Given the description of an element on the screen output the (x, y) to click on. 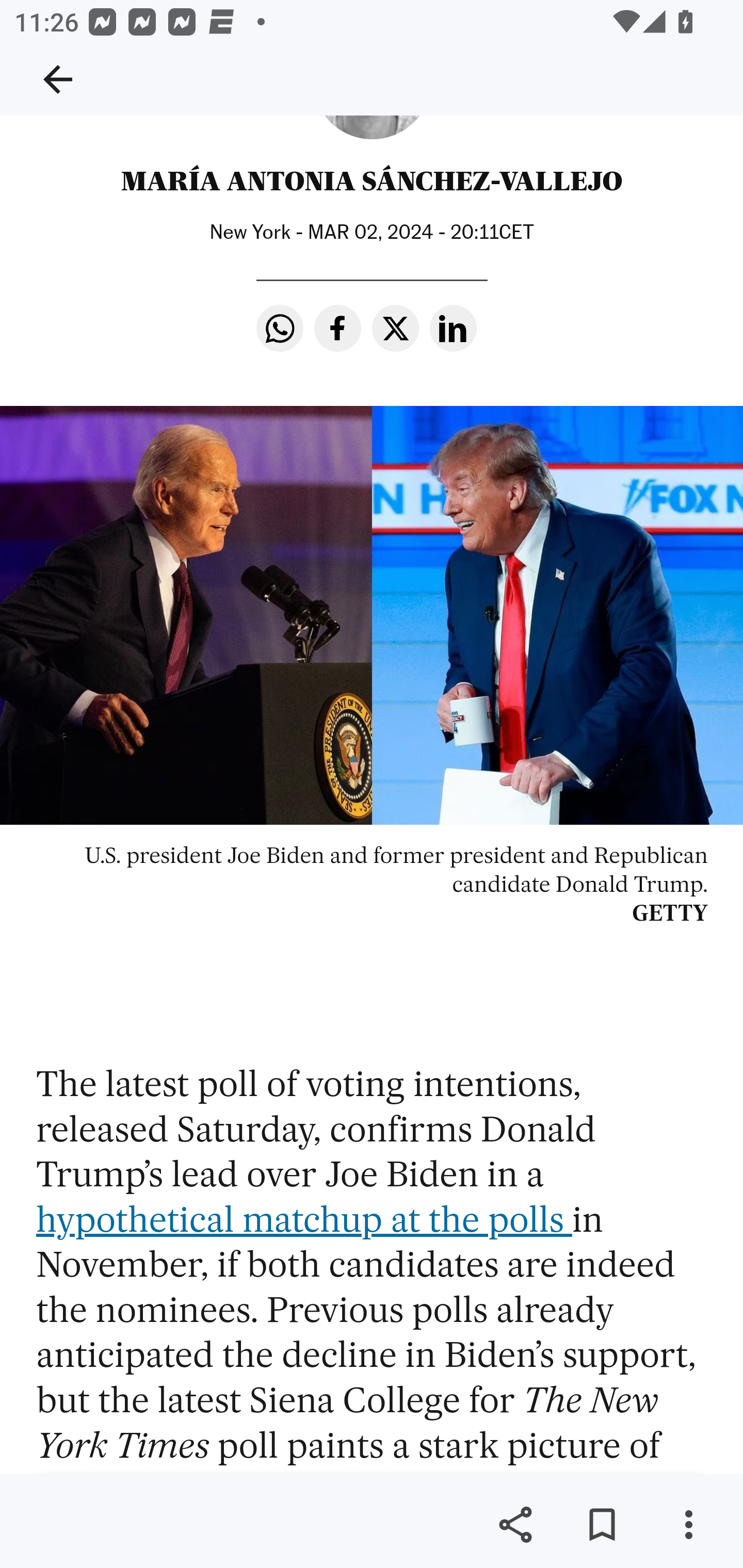
Navigate up (57, 79)
MARÍA ANTONIA SÁNCHEZ-VALLEJO (371, 183)
Whatsapp (279, 329)
Facebook (338, 329)
Twitter (396, 329)
Linkedin (453, 329)
hypothetical matchup at the polls  (304, 1218)
Share (514, 1524)
Save for later (601, 1524)
More options (688, 1524)
